Given the description of an element on the screen output the (x, y) to click on. 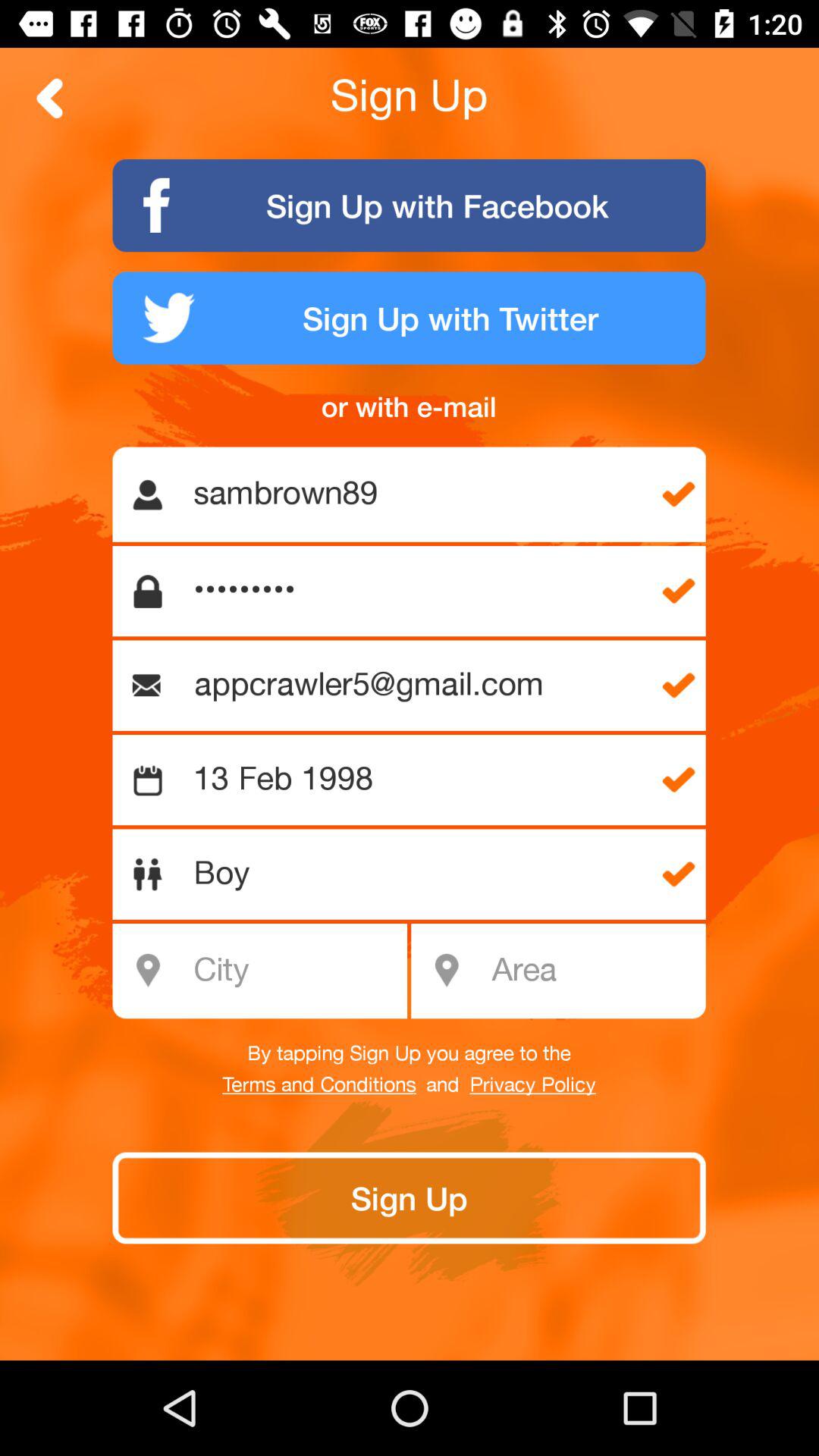
launch icon to the left of the and icon (319, 1085)
